Given the description of an element on the screen output the (x, y) to click on. 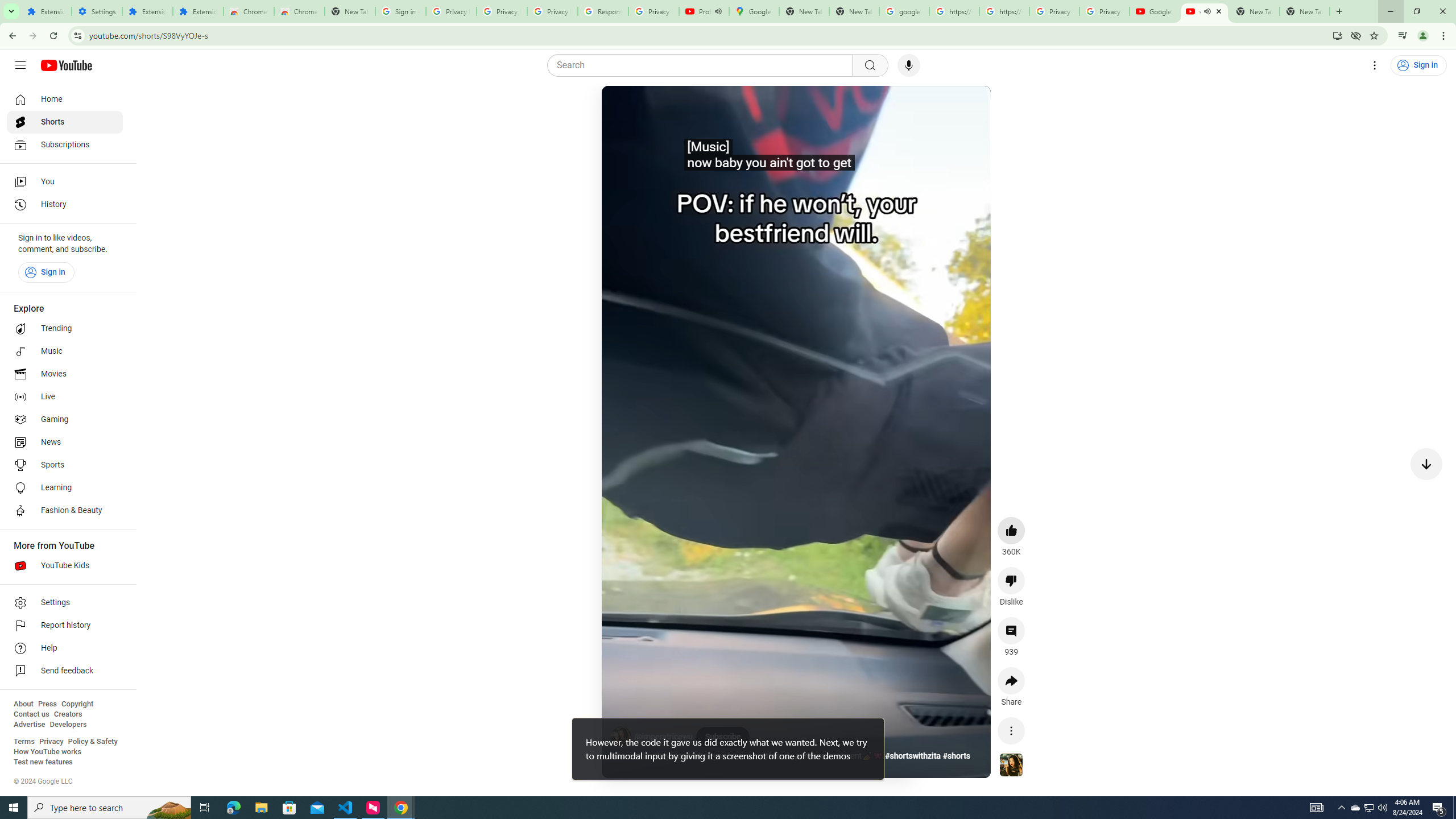
Developers (68, 724)
How YouTube works (47, 751)
Creators (67, 714)
Movies (64, 373)
Search (869, 65)
Third-party cookies blocked (1355, 35)
Advertise (29, 724)
Music (64, 350)
Home (64, 99)
Report history (64, 625)
YouTube Home (66, 65)
Share (1011, 680)
About (23, 703)
Subscriptions (64, 144)
